Given the description of an element on the screen output the (x, y) to click on. 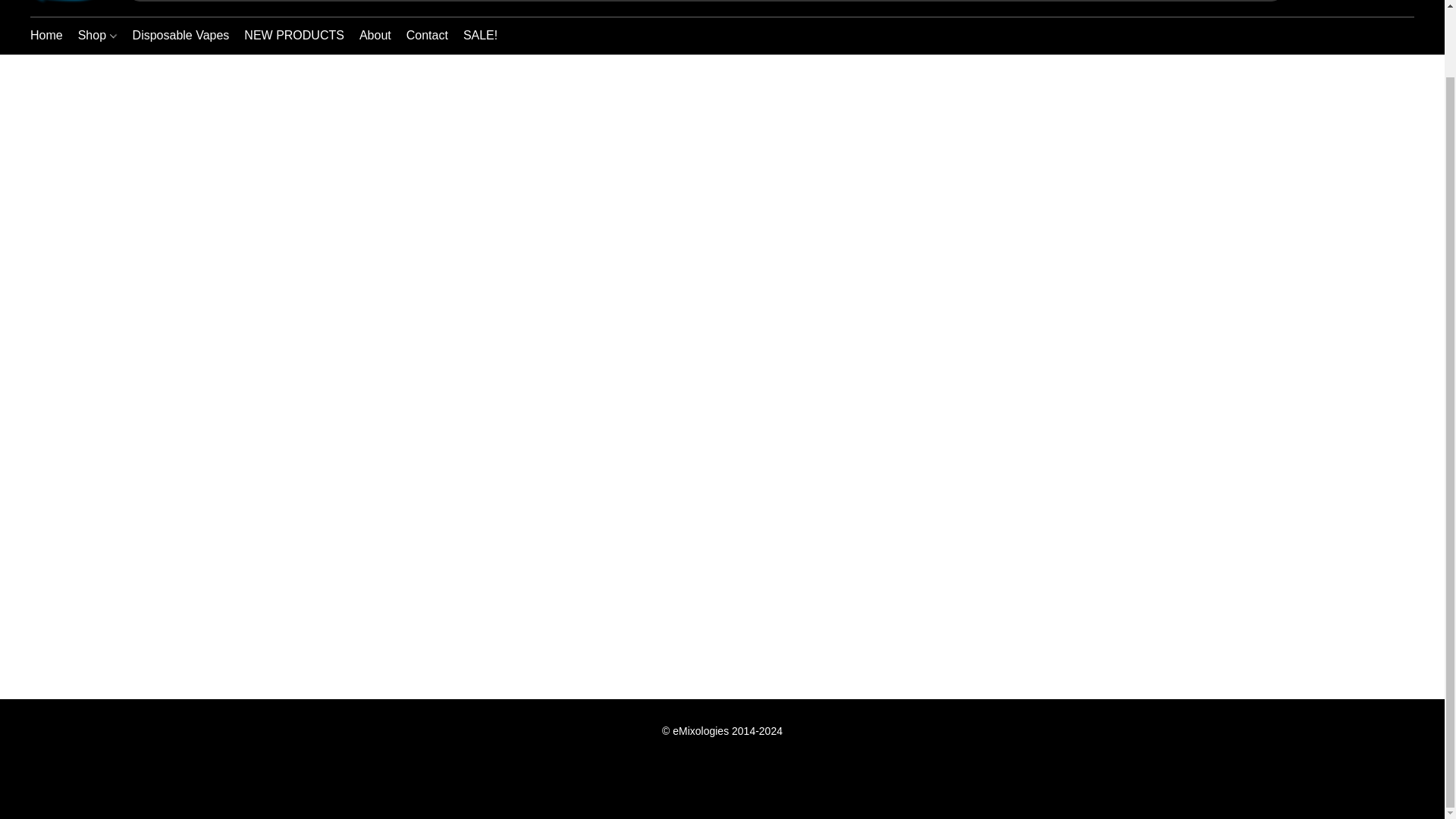
Report abuse (722, 785)
About (895, 758)
Contact (375, 35)
Home (426, 35)
SALE! (49, 35)
NEW PRODUCTS (476, 35)
Shop (293, 35)
Disposable Vapes (97, 35)
Go to your shopping cart (181, 35)
